Given the description of an element on the screen output the (x, y) to click on. 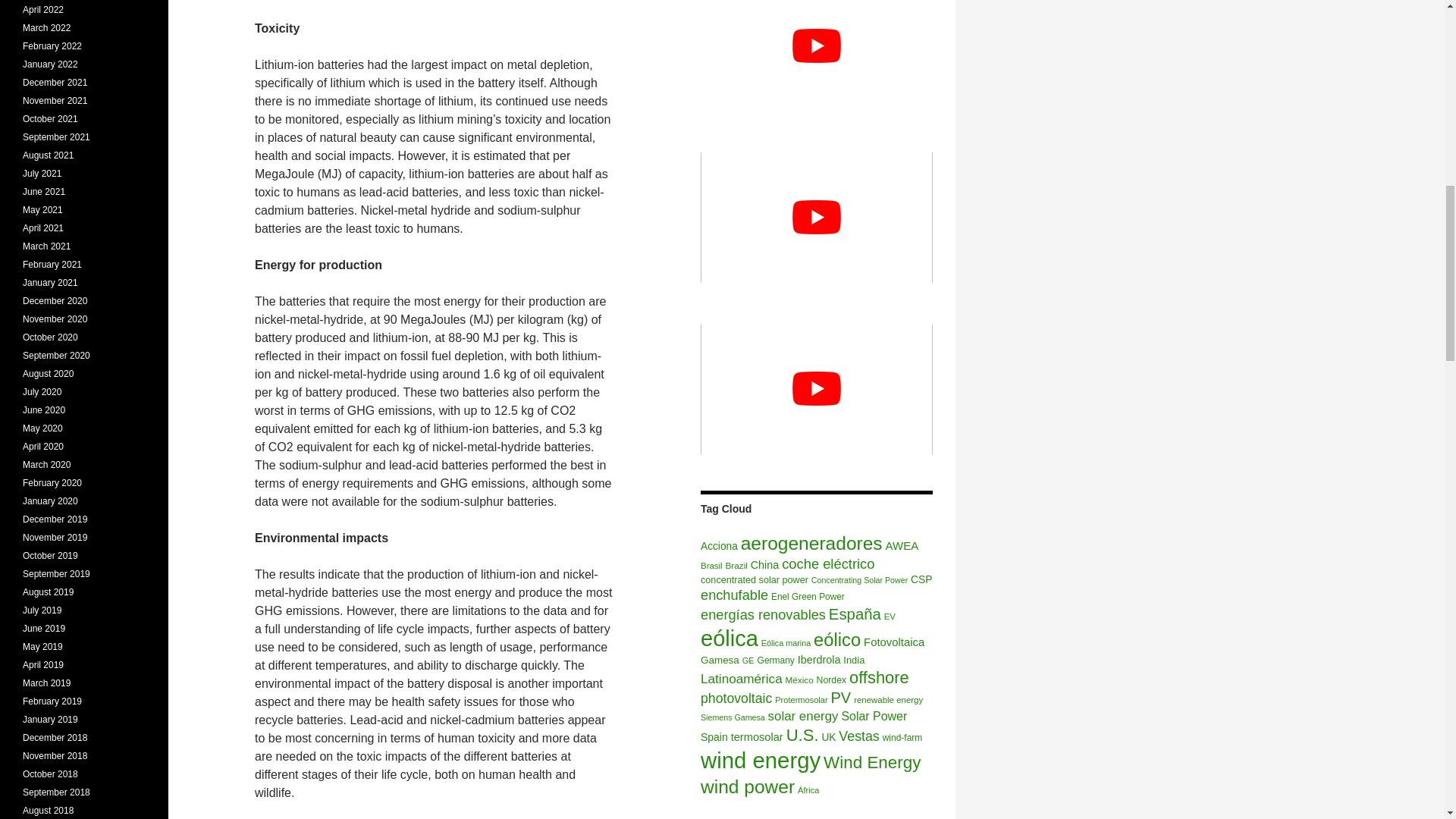
Acciona (719, 546)
AWEA (901, 545)
aerogeneradores (811, 543)
